Given the description of an element on the screen output the (x, y) to click on. 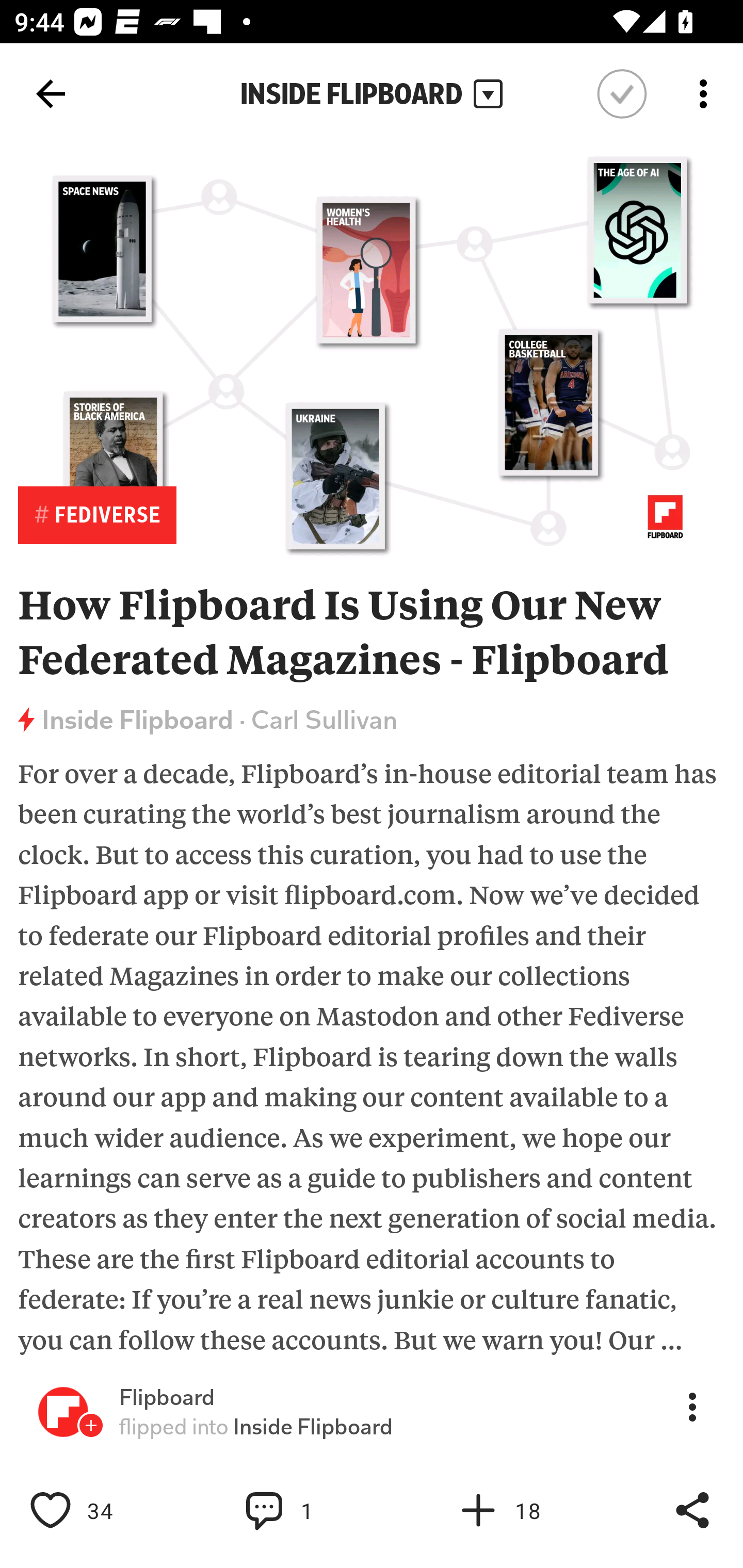
Back (50, 93)
INSIDE FLIPBOARD (371, 93)
More options (706, 93)
Following (622, 93)
# FEDIVERSE (96, 515)
More (692, 1406)
Flipboard (166, 1397)
flipped into Inside Flipboard (255, 1426)
Like 34 (93, 1509)
Write a comment… 1 (307, 1509)
Flip into Magazine 18 (521, 1509)
Share (692, 1509)
